Given the description of an element on the screen output the (x, y) to click on. 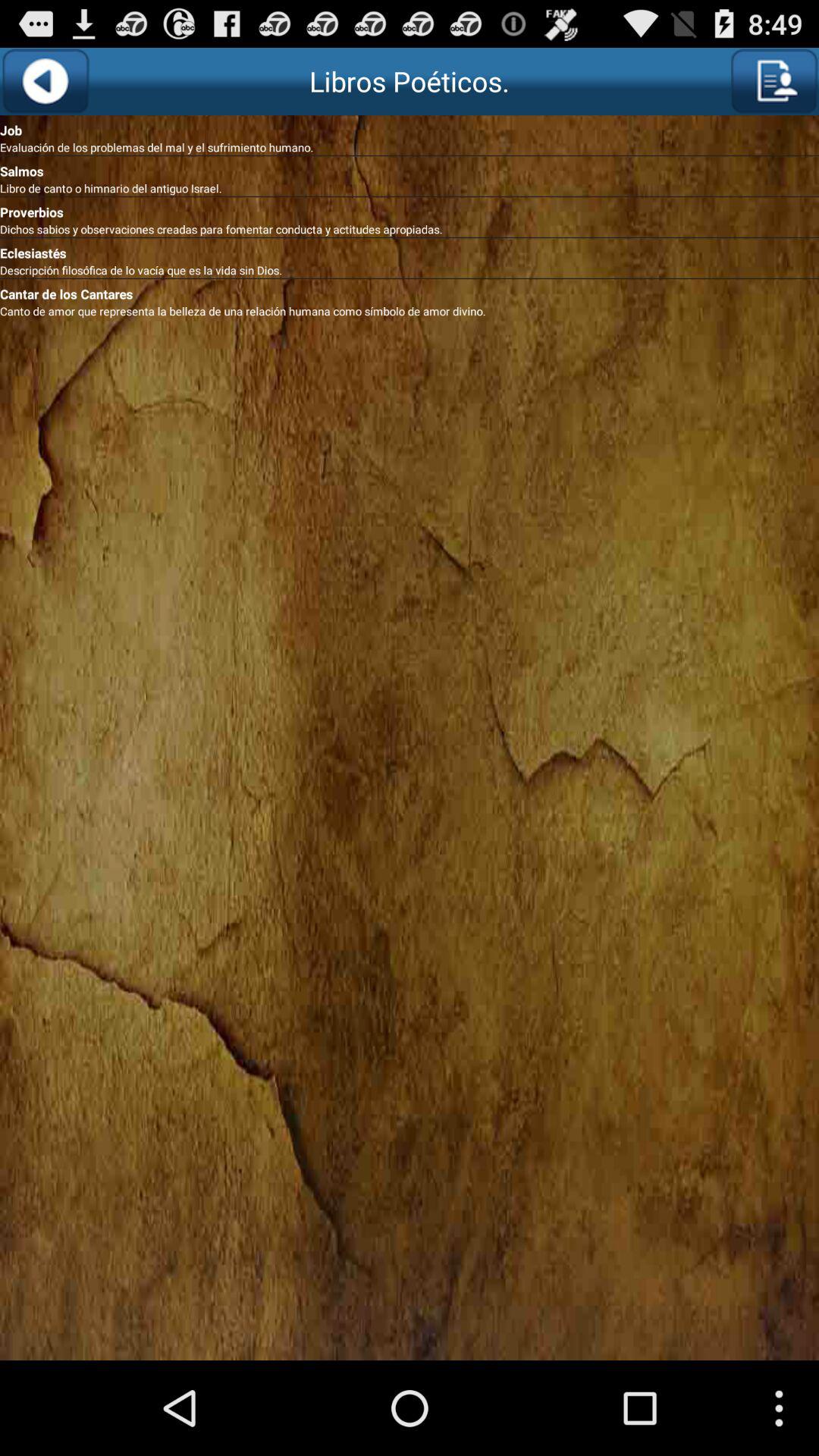
launch item above the job item (45, 81)
